Given the description of an element on the screen output the (x, y) to click on. 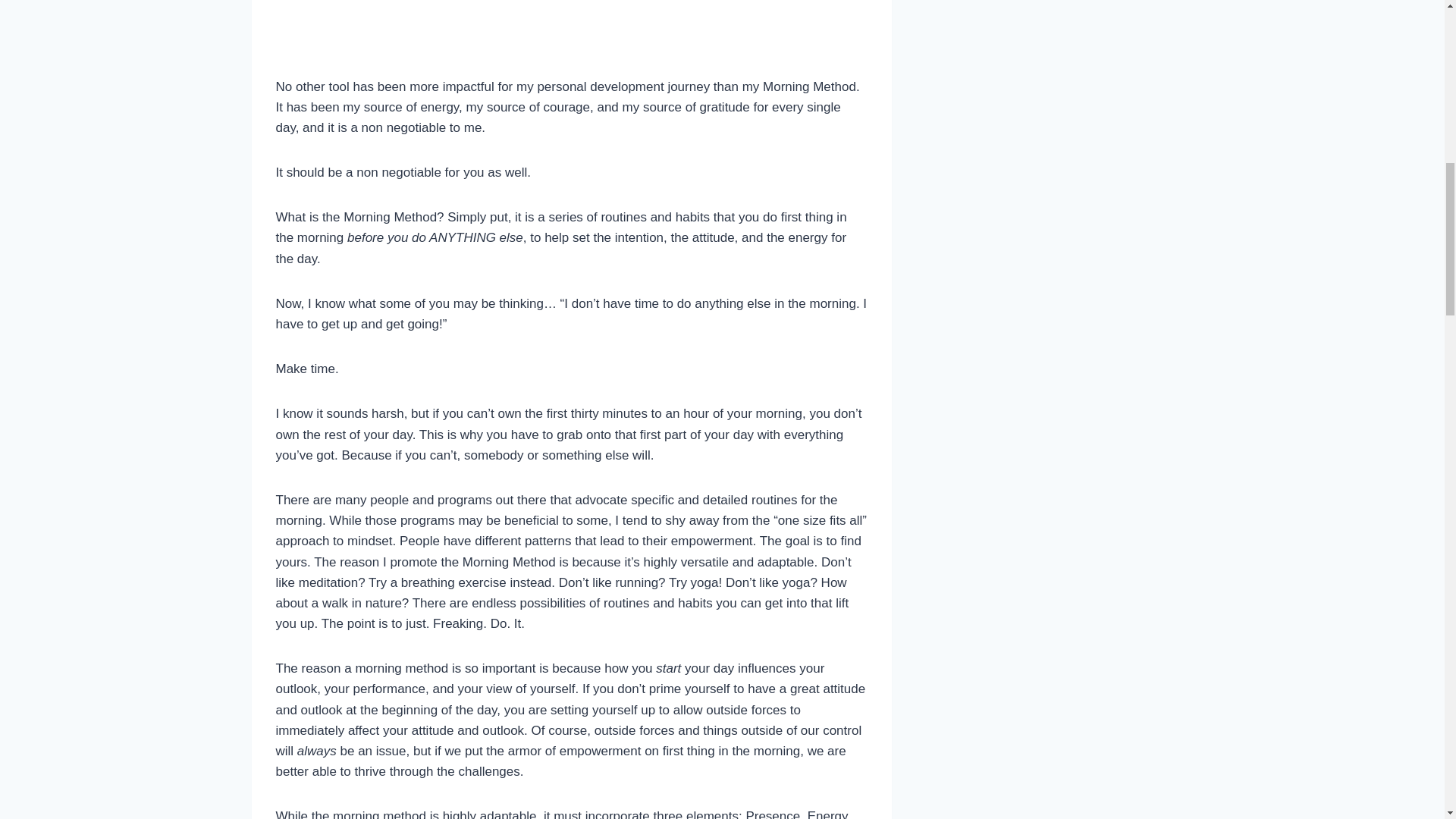
YouTube video player (571, 22)
